Given the description of an element on the screen output the (x, y) to click on. 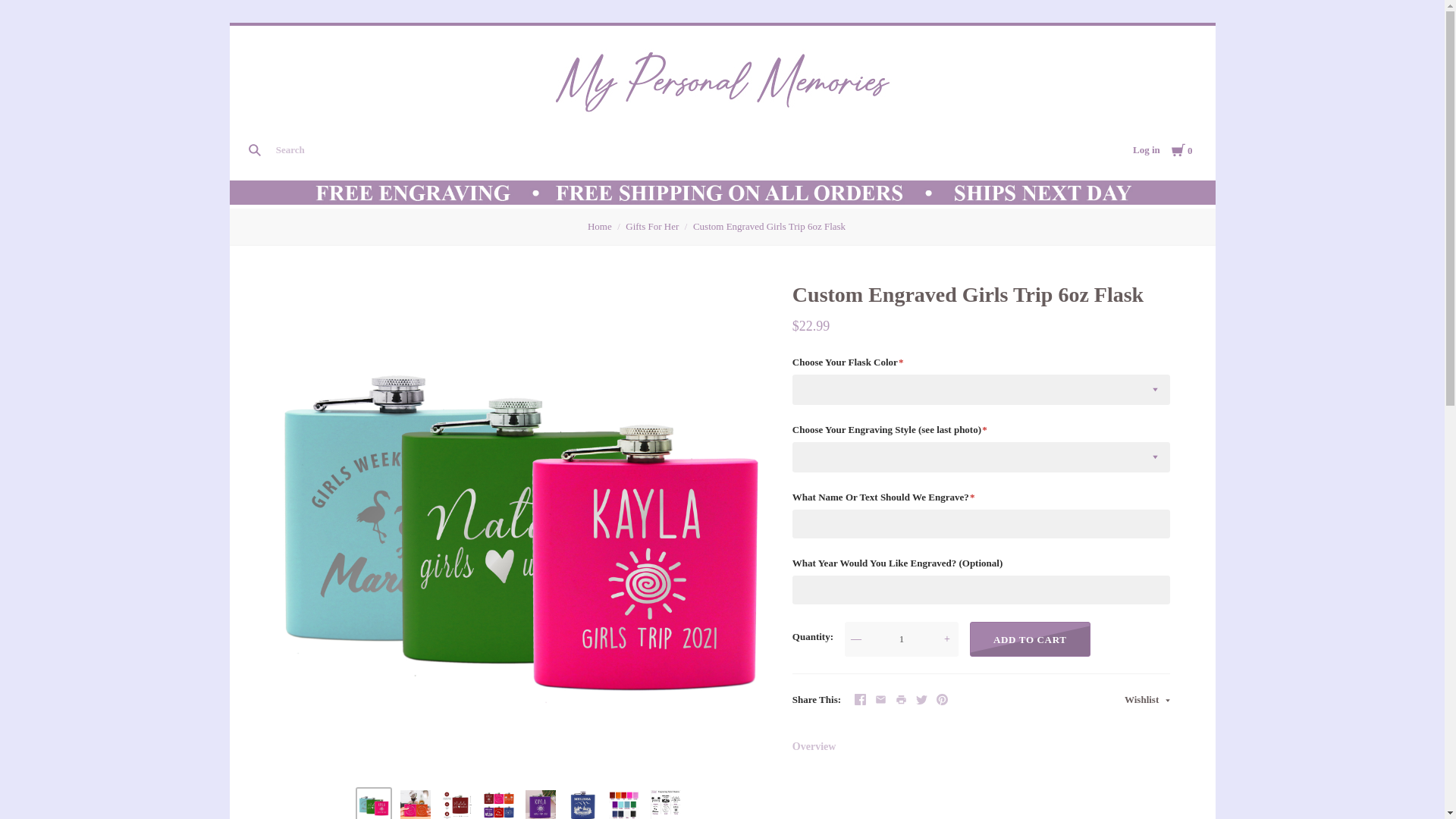
Custom Engraved Girls Trip 6oz Flask (581, 804)
Custom Engraved Girls Trip 6oz Flask (623, 804)
Custom Engraved Girls Trip 6oz Flask (498, 804)
Custom Engraved Girls Trip 6oz Flask (665, 804)
Custom Engraved Girls Trip 6oz Flask (373, 804)
Custom Engraved Girls Trip 6oz Flask (415, 804)
Custom Engraved Girls Trip 6oz Flask (456, 804)
1 (901, 638)
Custom Engraved Girls Trip 6oz Flask (540, 804)
